Given the description of an element on the screen output the (x, y) to click on. 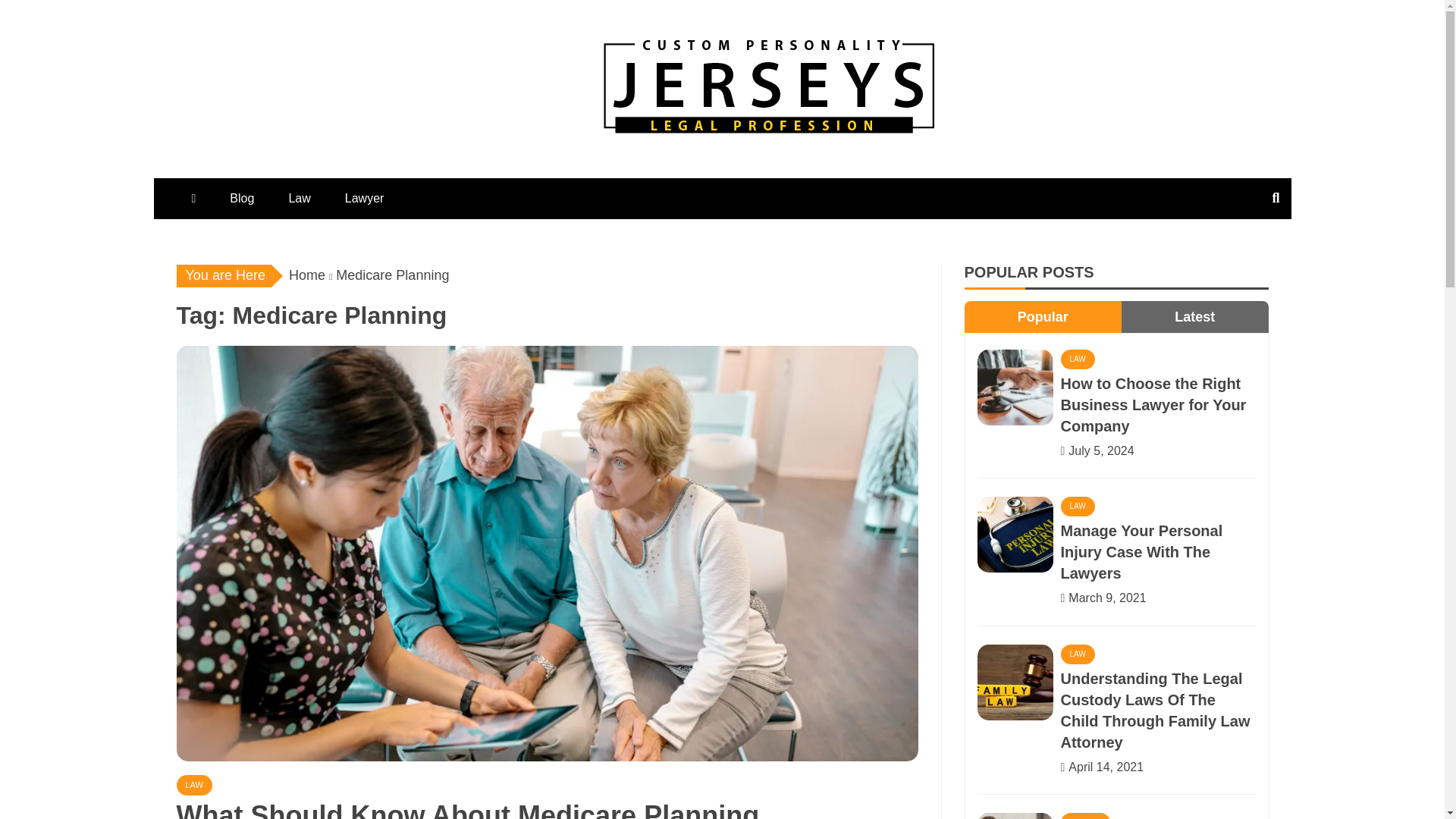
LAW (1076, 506)
LAWYER (1084, 816)
LAW (193, 784)
Latest (1194, 316)
April 14, 2021 (1105, 766)
Custom Personality Jerseys Legal Profession (924, 183)
Lawyer (364, 198)
LAW (1076, 654)
LAW (1076, 359)
Blog (241, 198)
Law (298, 198)
Popular (1042, 316)
What Should Know About Medicare Planning (467, 809)
July 5, 2024 (1101, 450)
